Given the description of an element on the screen output the (x, y) to click on. 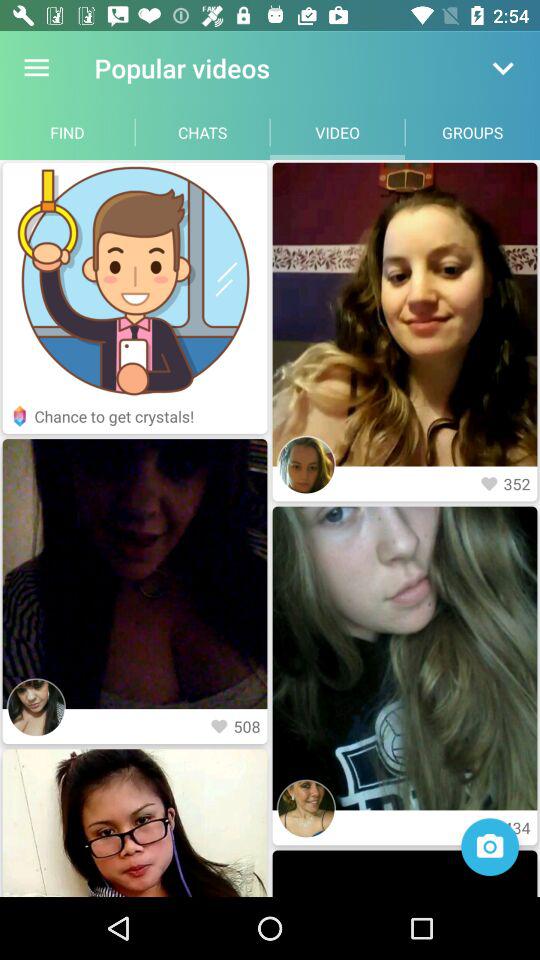
open camera (490, 847)
